Given the description of an element on the screen output the (x, y) to click on. 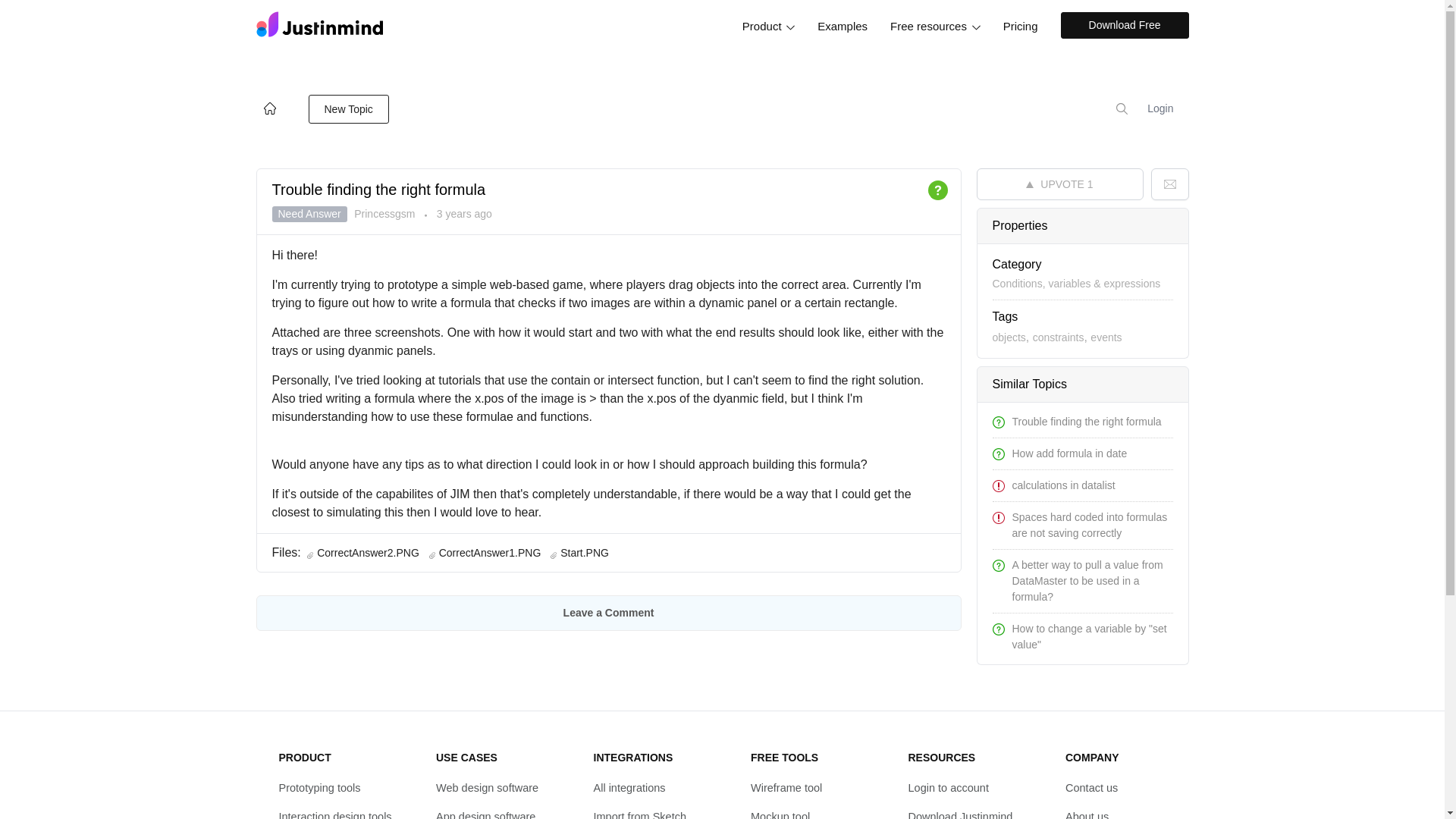
How to change a variable by "set value" (1088, 636)
How add formula in date (1068, 453)
Princessgsm (385, 214)
Spaces hard coded into formulas are not saving correctly (1089, 524)
calculations in datalist (1063, 485)
Examples (842, 25)
objects (1008, 337)
constraints (1058, 337)
Pricing (1020, 25)
events (1105, 337)
